Given the description of an element on the screen output the (x, y) to click on. 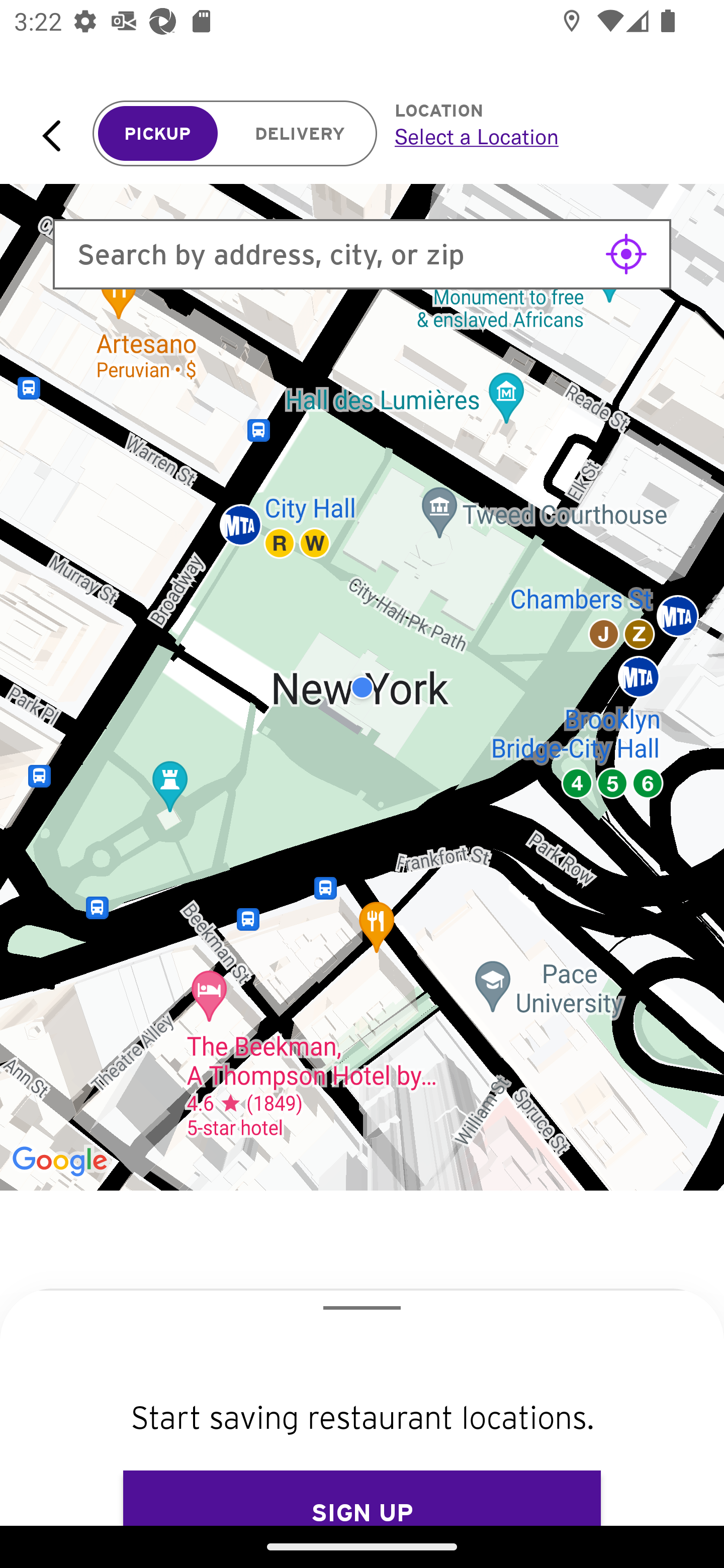
PICKUP (157, 133)
DELIVERY (299, 133)
Select a Location (536, 136)
Search by address, city, or zip (361, 254)
SIGN UP (361, 1497)
